Given the description of an element on the screen output the (x, y) to click on. 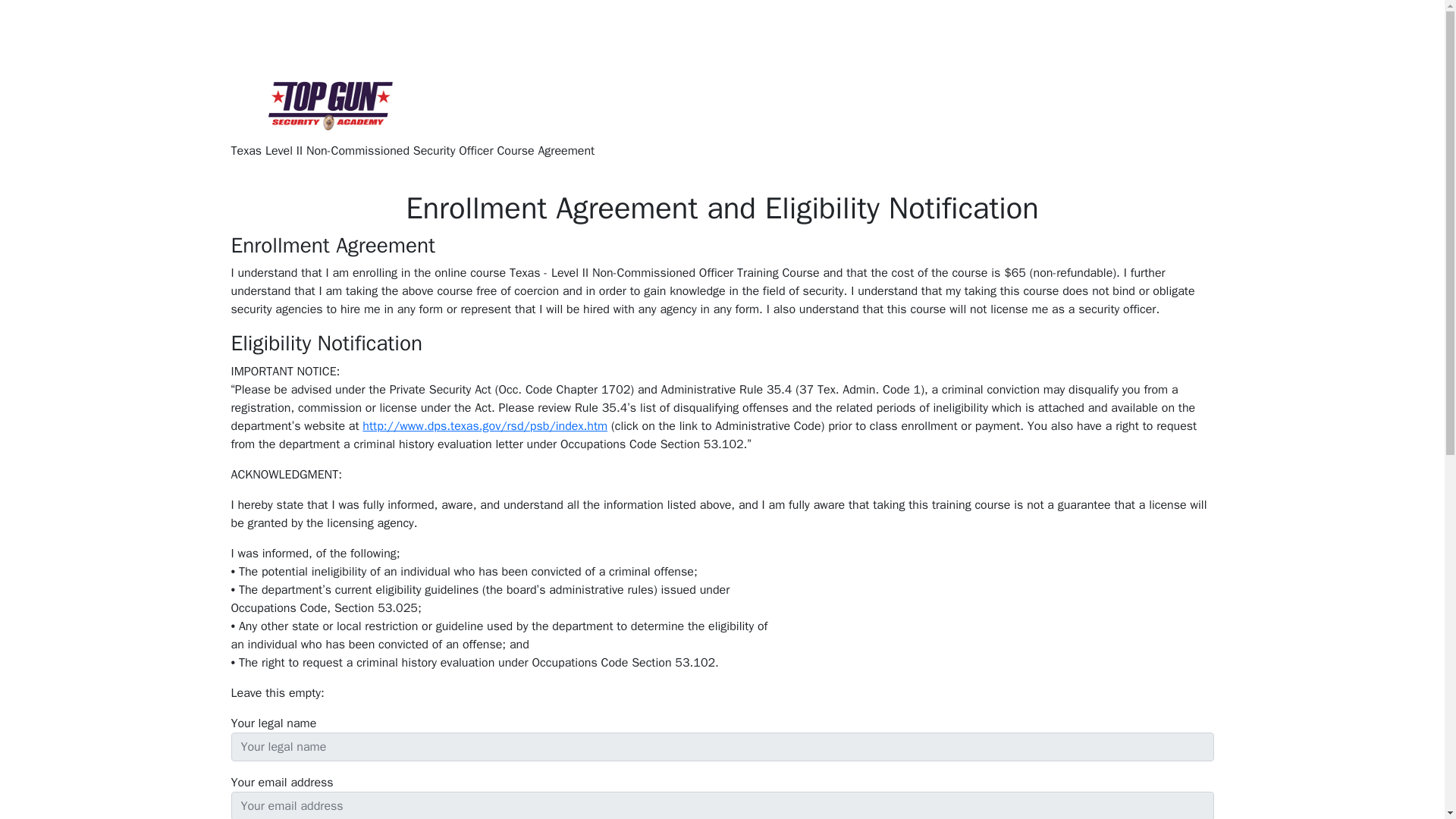
Top Gun National Security Academy (347, 12)
